Given the description of an element on the screen output the (x, y) to click on. 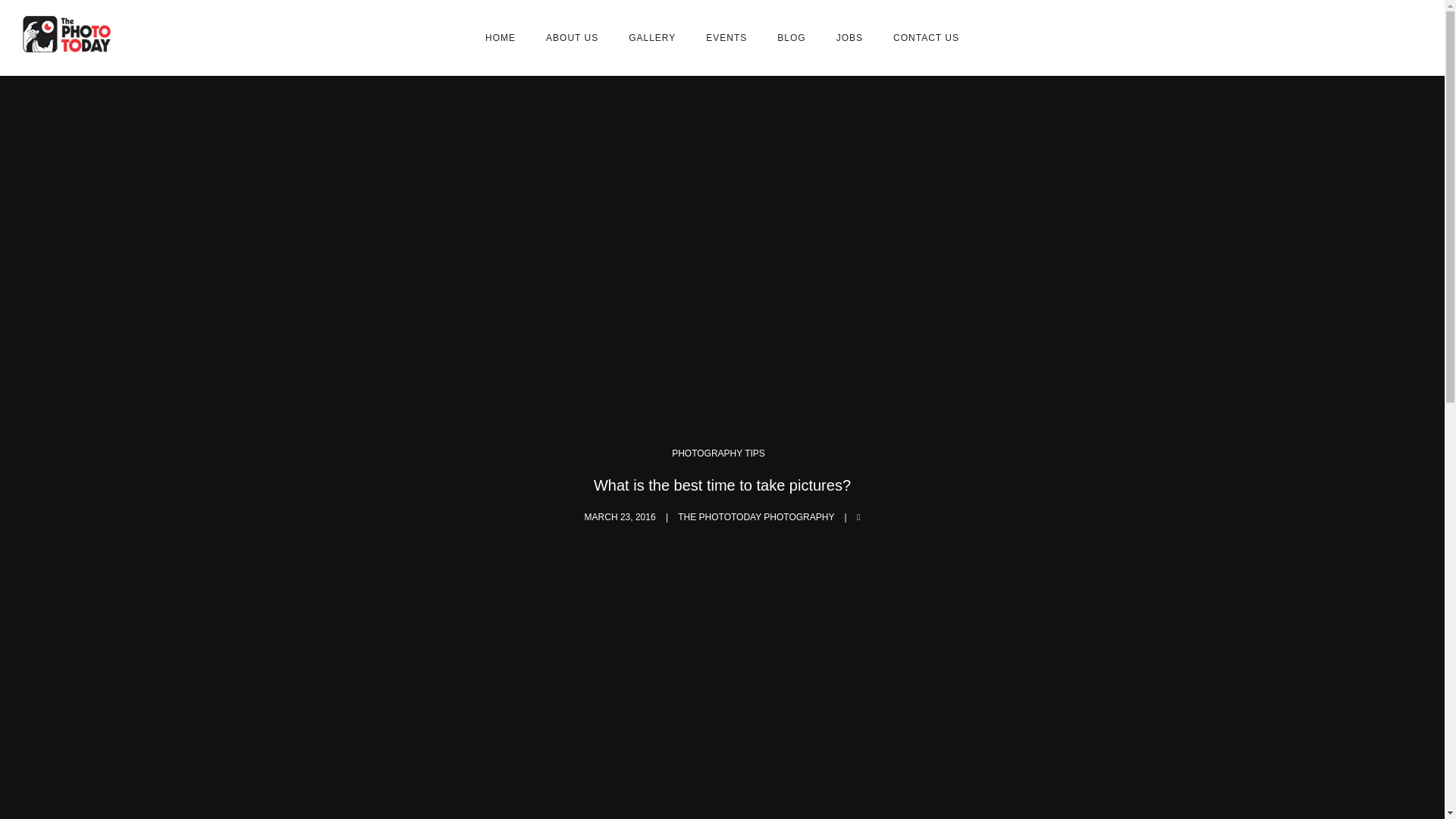
EVENTS (725, 37)
HOME (500, 37)
EVENTS (725, 37)
CONTACT US (925, 37)
CONTACT US (925, 37)
BLOG (791, 37)
BLOG (791, 37)
ABOUT US (571, 37)
HOME (500, 37)
ABOUT US (571, 37)
